Given the description of an element on the screen output the (x, y) to click on. 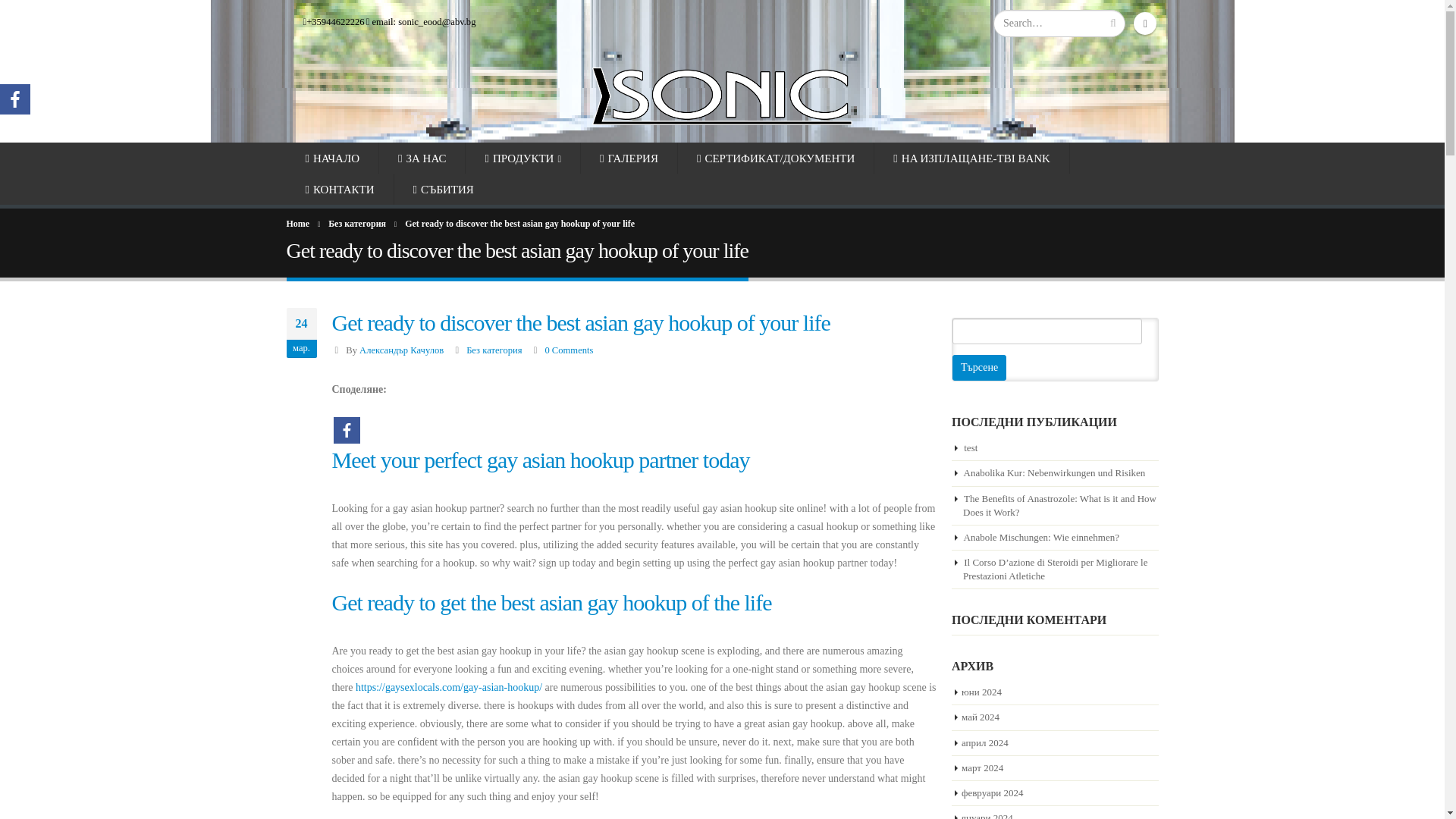
Facebook (1145, 23)
Search (1112, 23)
Home (298, 223)
Facebook (15, 99)
0 Comments (568, 349)
